Given the description of an element on the screen output the (x, y) to click on. 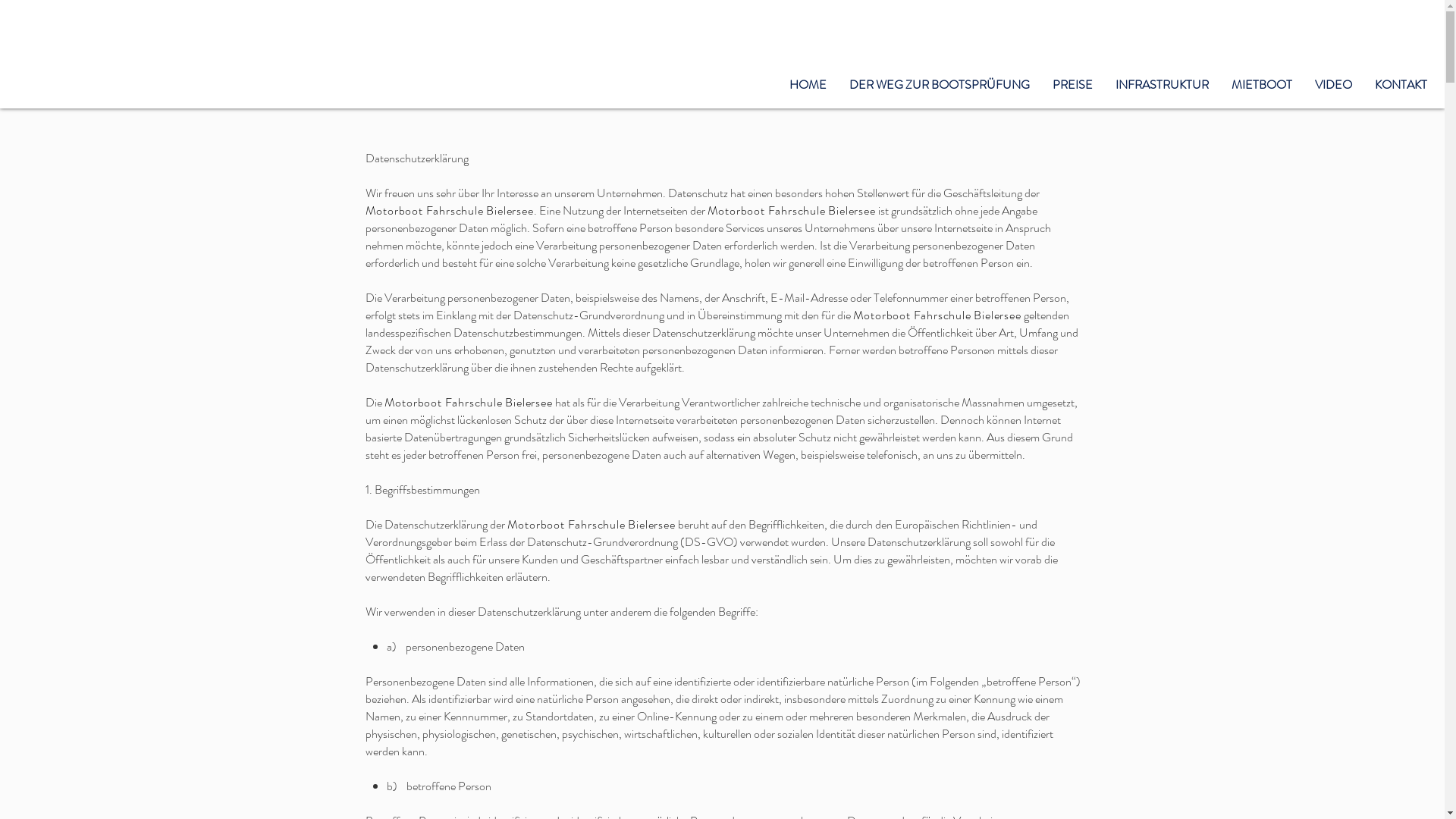
PREISE Element type: text (1072, 84)
MIETBOOT Element type: text (1261, 84)
KONTAKT Element type: text (1400, 84)
HOME Element type: text (807, 84)
INFRASTRUKTUR Element type: text (1162, 84)
